Given the description of an element on the screen output the (x, y) to click on. 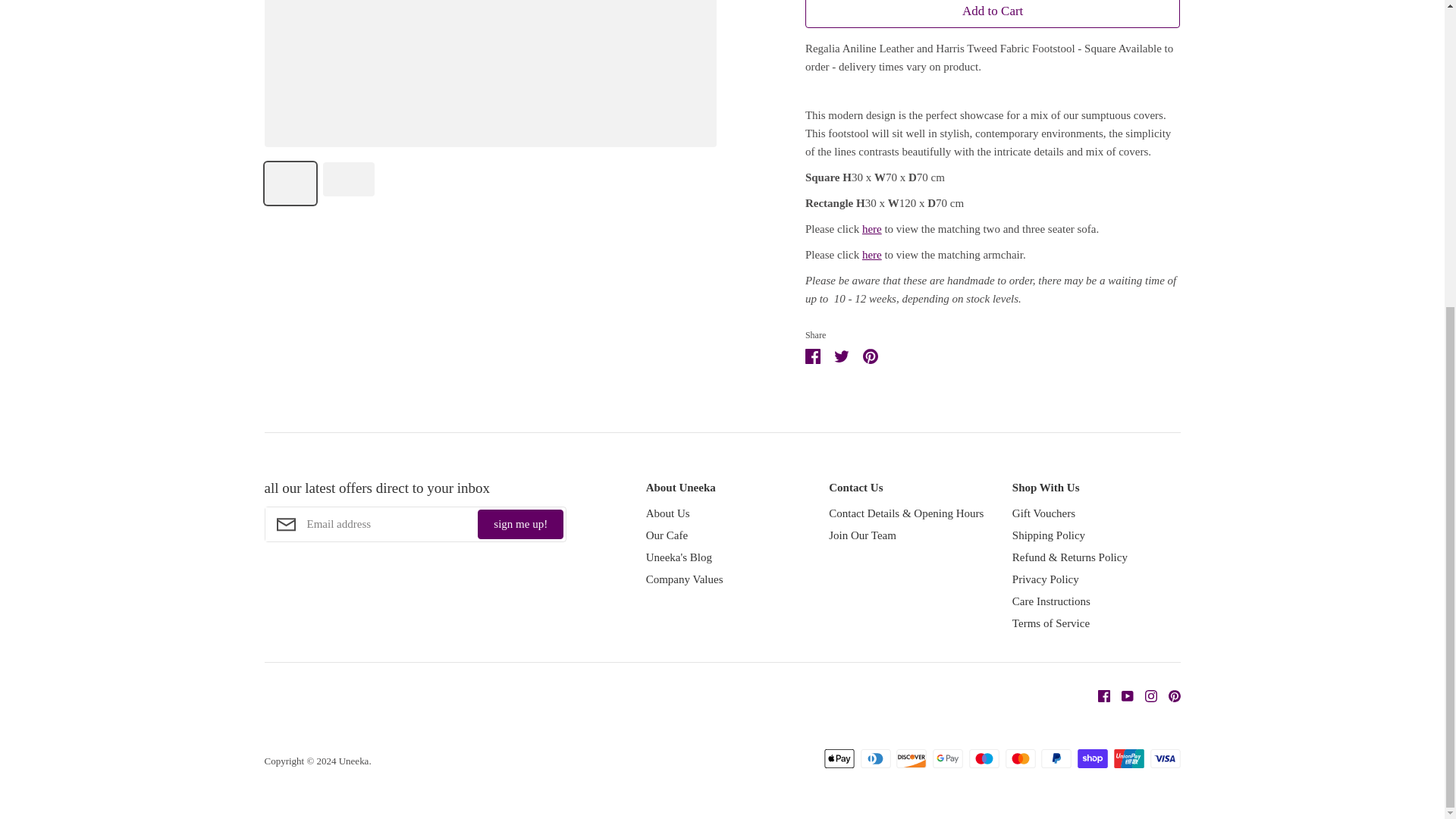
PayPal (1056, 758)
Apple Pay (839, 758)
Diners Club (874, 758)
Maestro (983, 758)
Shop Pay (1092, 758)
Mastercard (1020, 758)
Google Pay (947, 758)
Discover (911, 758)
